Given the description of an element on the screen output the (x, y) to click on. 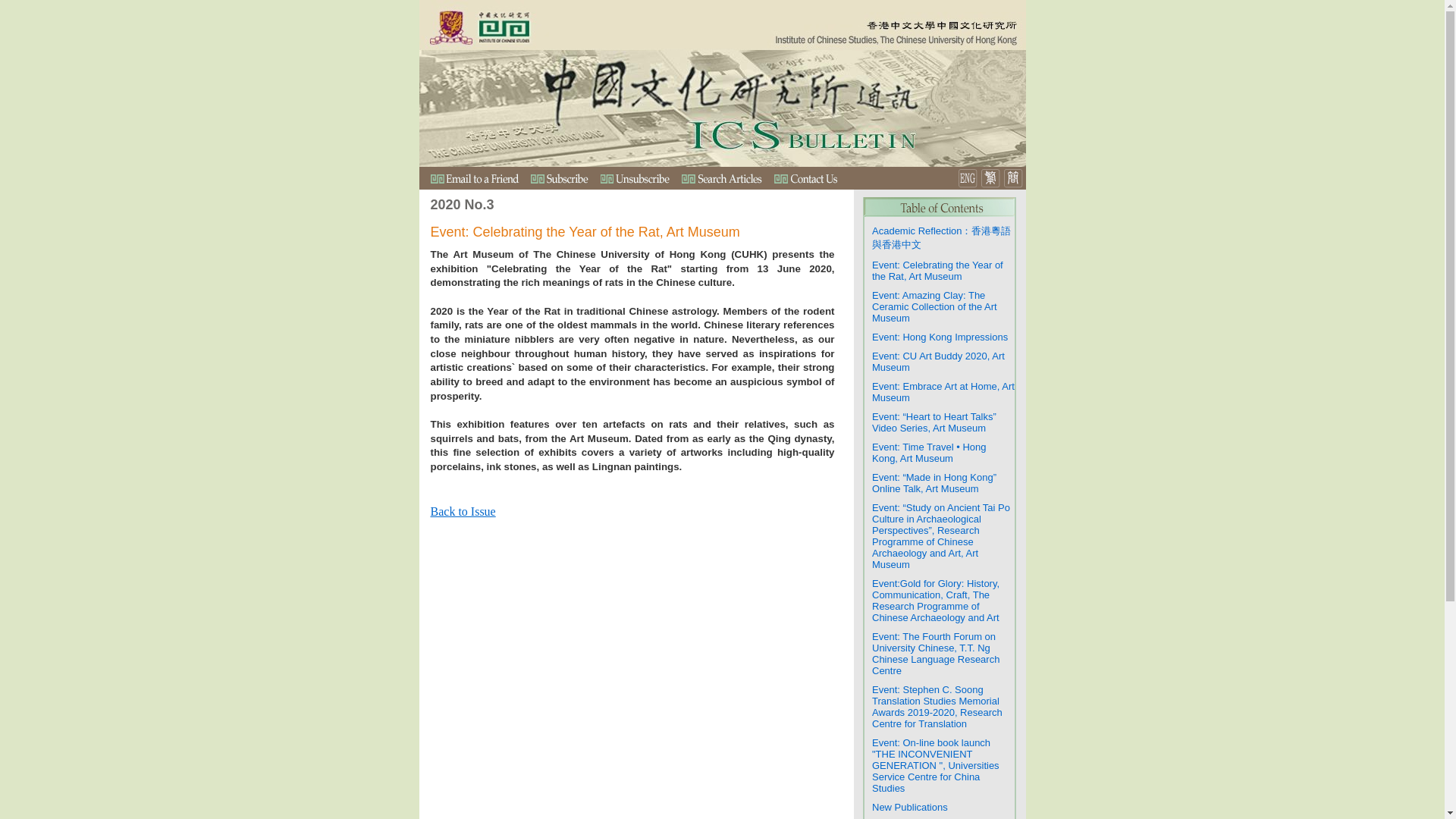
Back to Issue (463, 511)
New Publications (909, 806)
Event: CU Art Buddy 2020, Art Museum (938, 360)
Event: Hong Kong Impressions (939, 336)
Event: Celebrating the Year of the Rat, Art Museum (937, 269)
Event: Embrace Art at Home, Art Museum (943, 391)
